Given the description of an element on the screen output the (x, y) to click on. 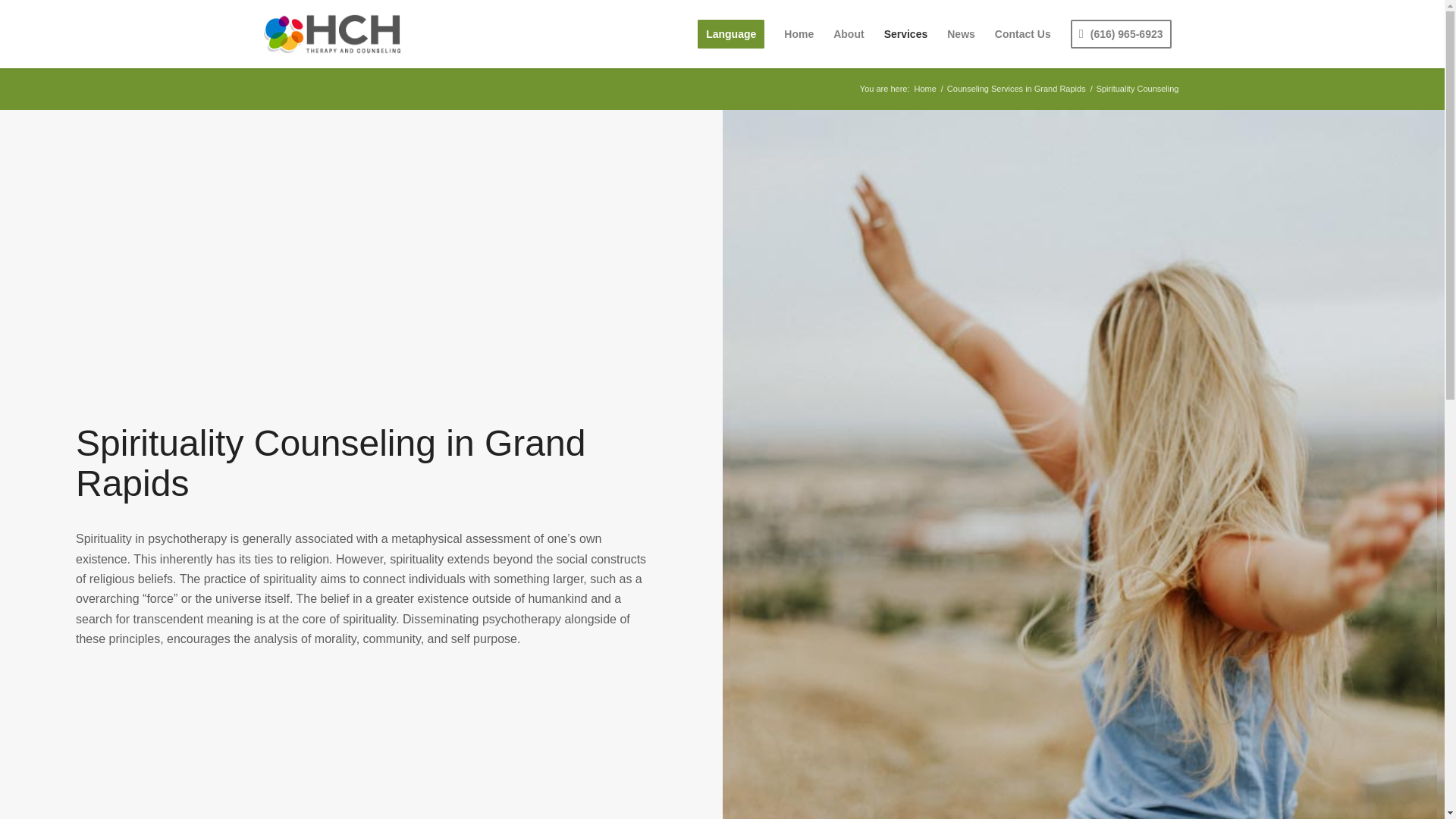
Bilingual English to Spanish (730, 33)
Call HCH Therapy and Counseling Services NOW! (1120, 33)
Services (906, 33)
All Services offered to Grand Rapids, Michigan (906, 33)
Language (730, 33)
